Given the description of an element on the screen output the (x, y) to click on. 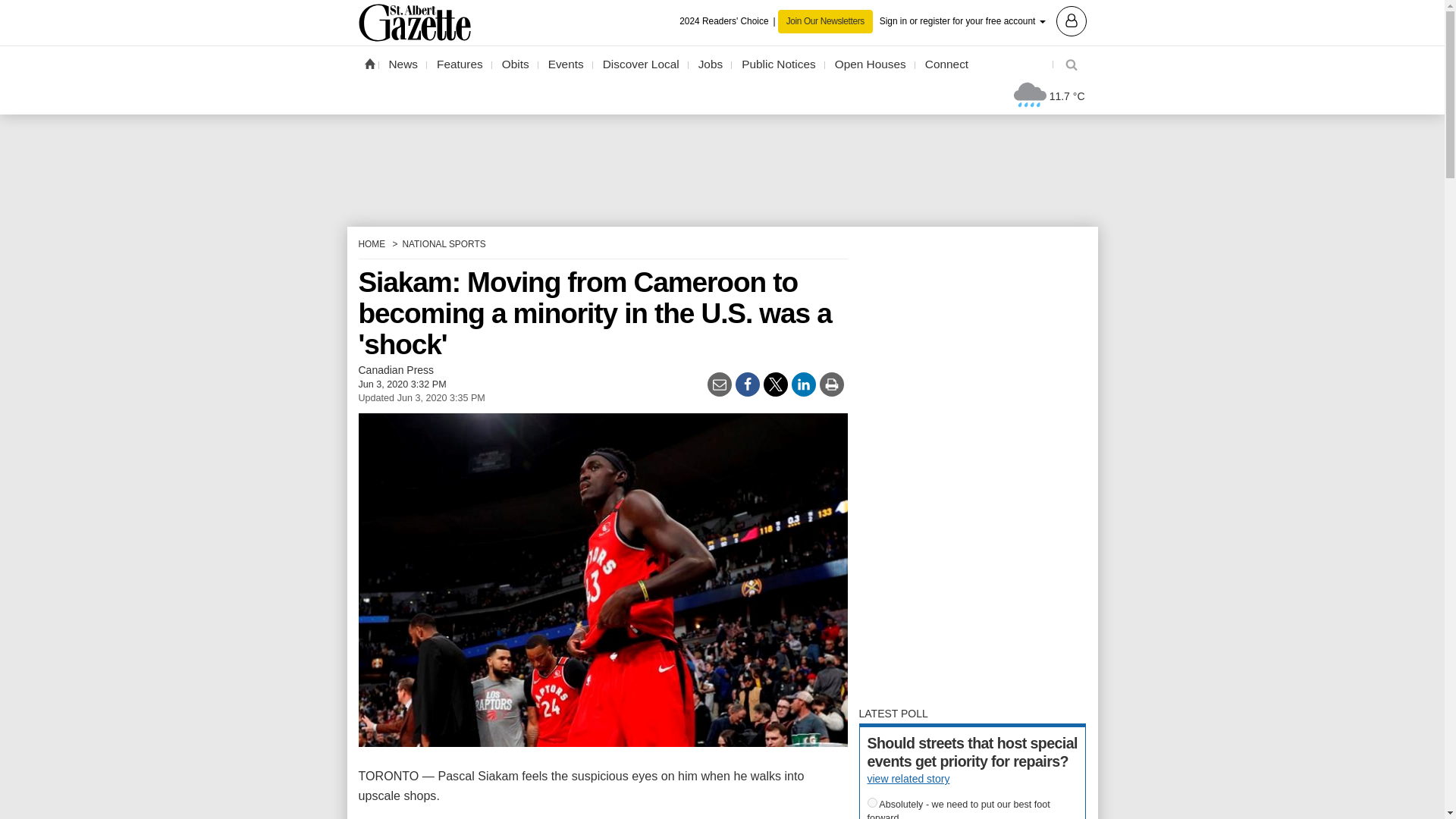
Home (368, 63)
2024 Readers' Choice (728, 21)
122823 (872, 802)
Join Our Newsletters (824, 21)
Sign in or register for your free account (982, 20)
